Given the description of an element on the screen output the (x, y) to click on. 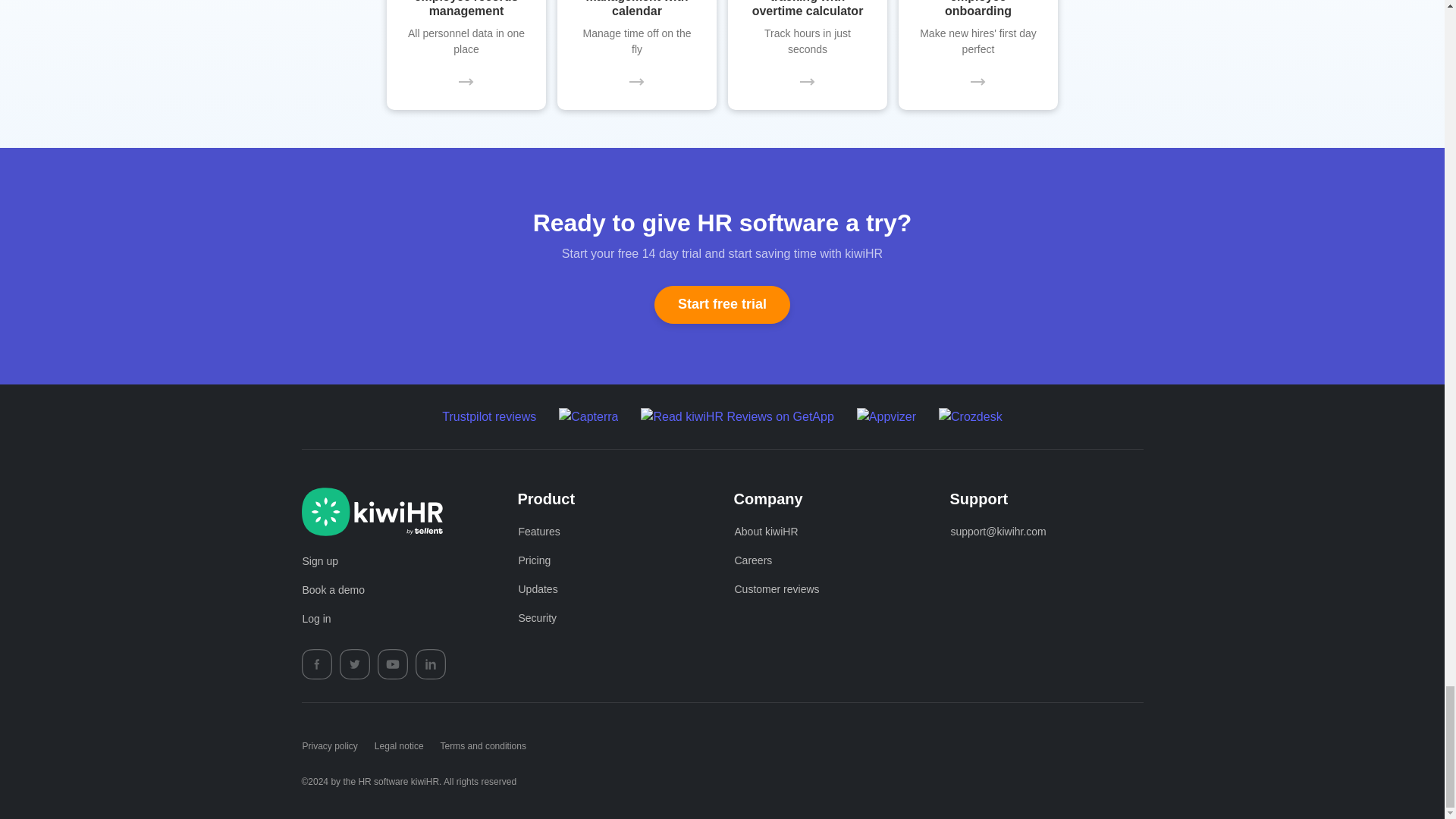
Sign in (316, 619)
hr-software-kiwihr-en-inversed (371, 511)
Security and privacy (536, 618)
